Given the description of an element on the screen output the (x, y) to click on. 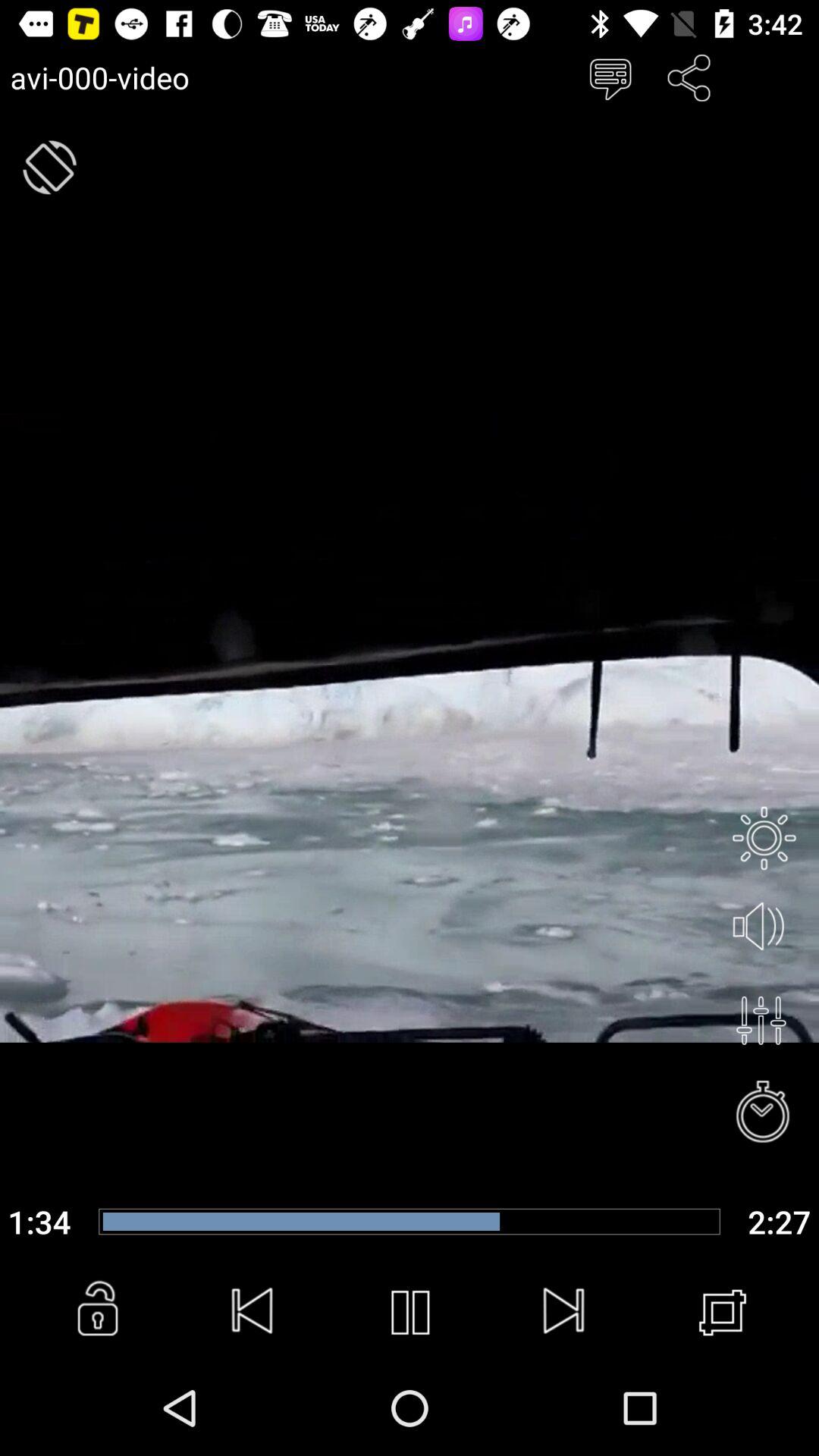
lock (97, 1312)
